Given the description of an element on the screen output the (x, y) to click on. 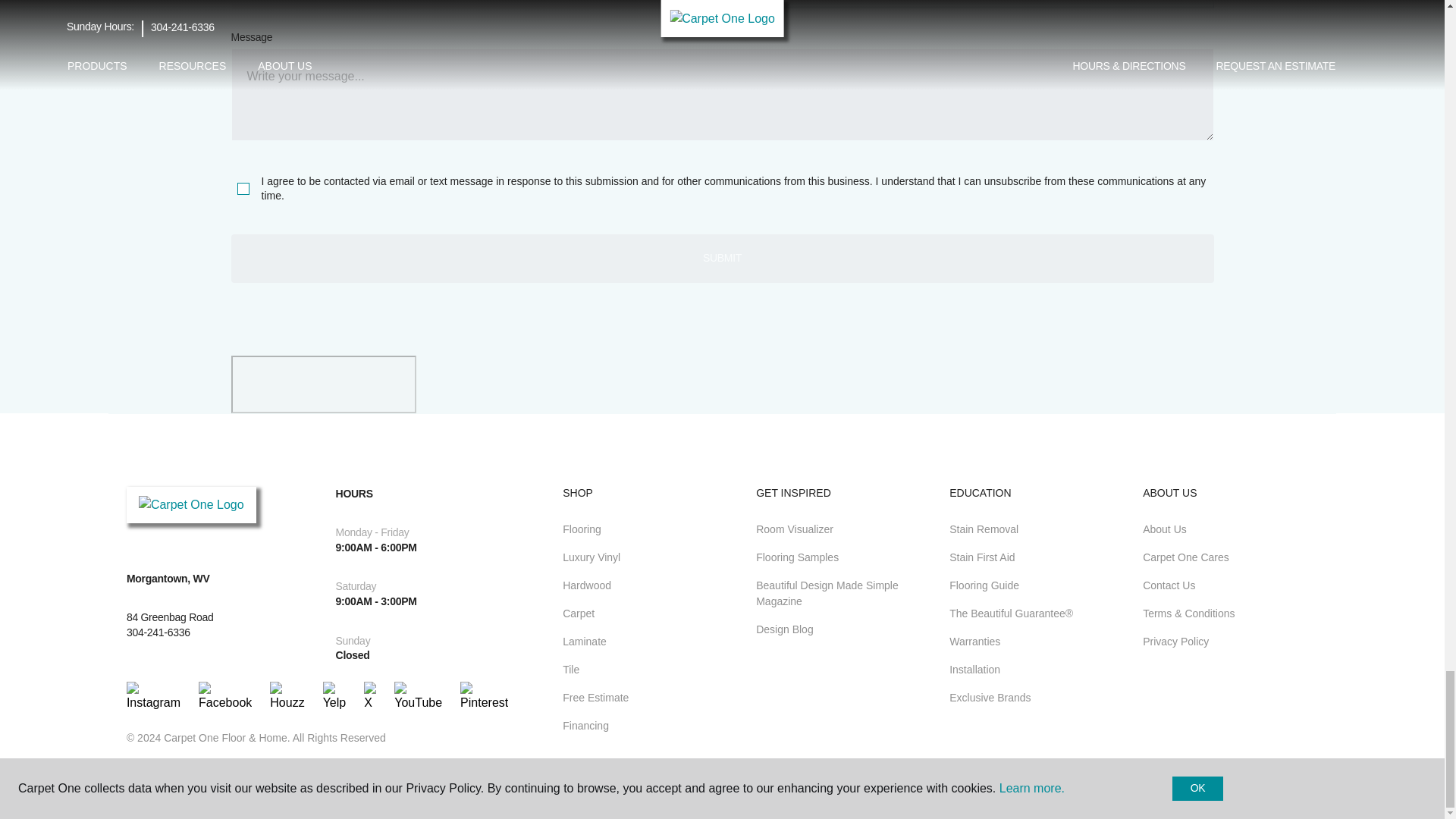
PostalCode (471, 4)
MyMessage (721, 94)
